Given the description of an element on the screen output the (x, y) to click on. 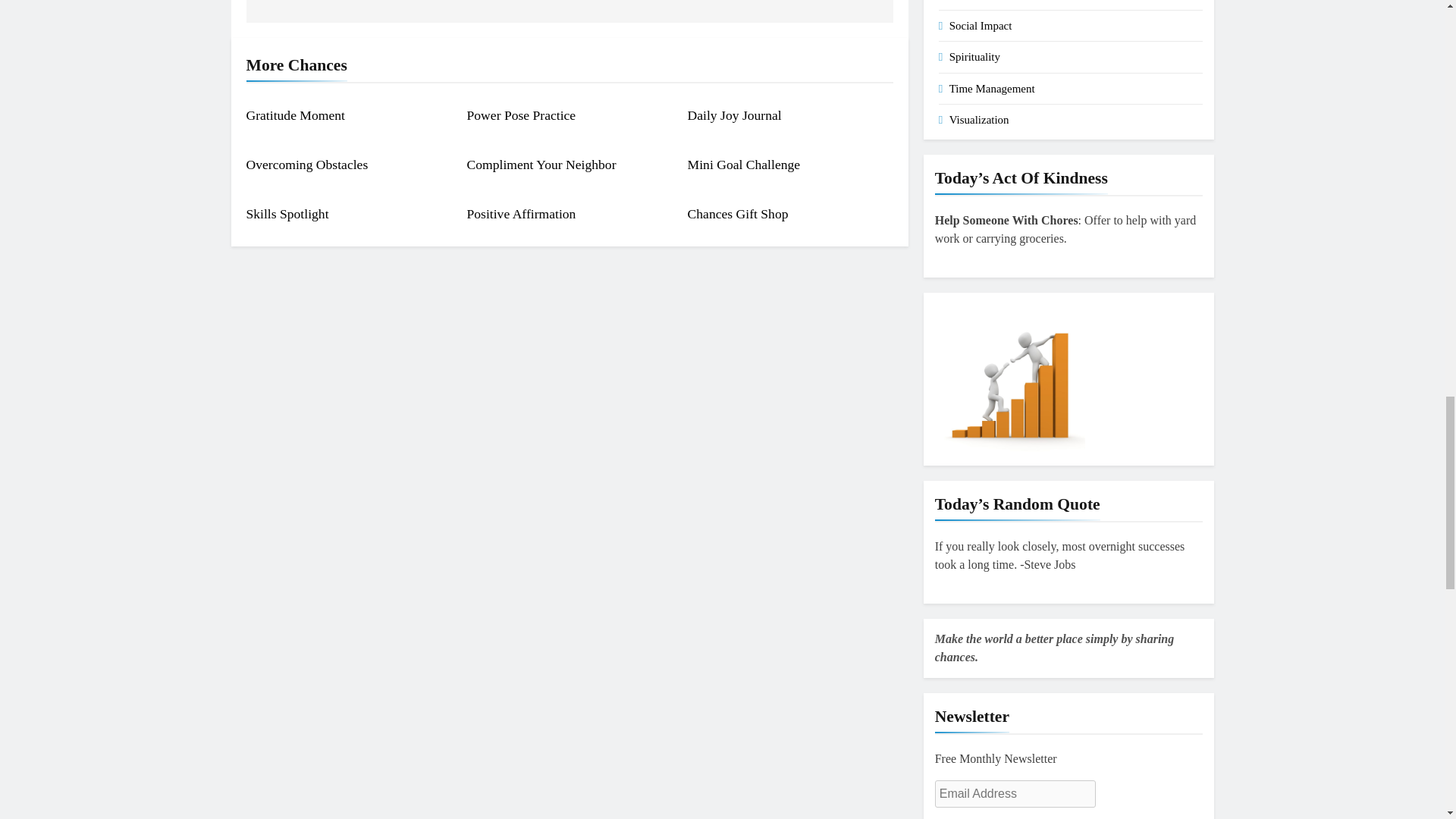
Positive Affirmation (521, 213)
Overcoming Obstacles (307, 164)
Power Pose Practice (521, 114)
Chances Gift Shop (738, 213)
Gratitude Moment (294, 114)
Mini Goal Challenge (743, 164)
Skills Spotlight (287, 213)
Daily Joy Journal (734, 114)
Compliment Your Neighbor (541, 164)
